Given the description of an element on the screen output the (x, y) to click on. 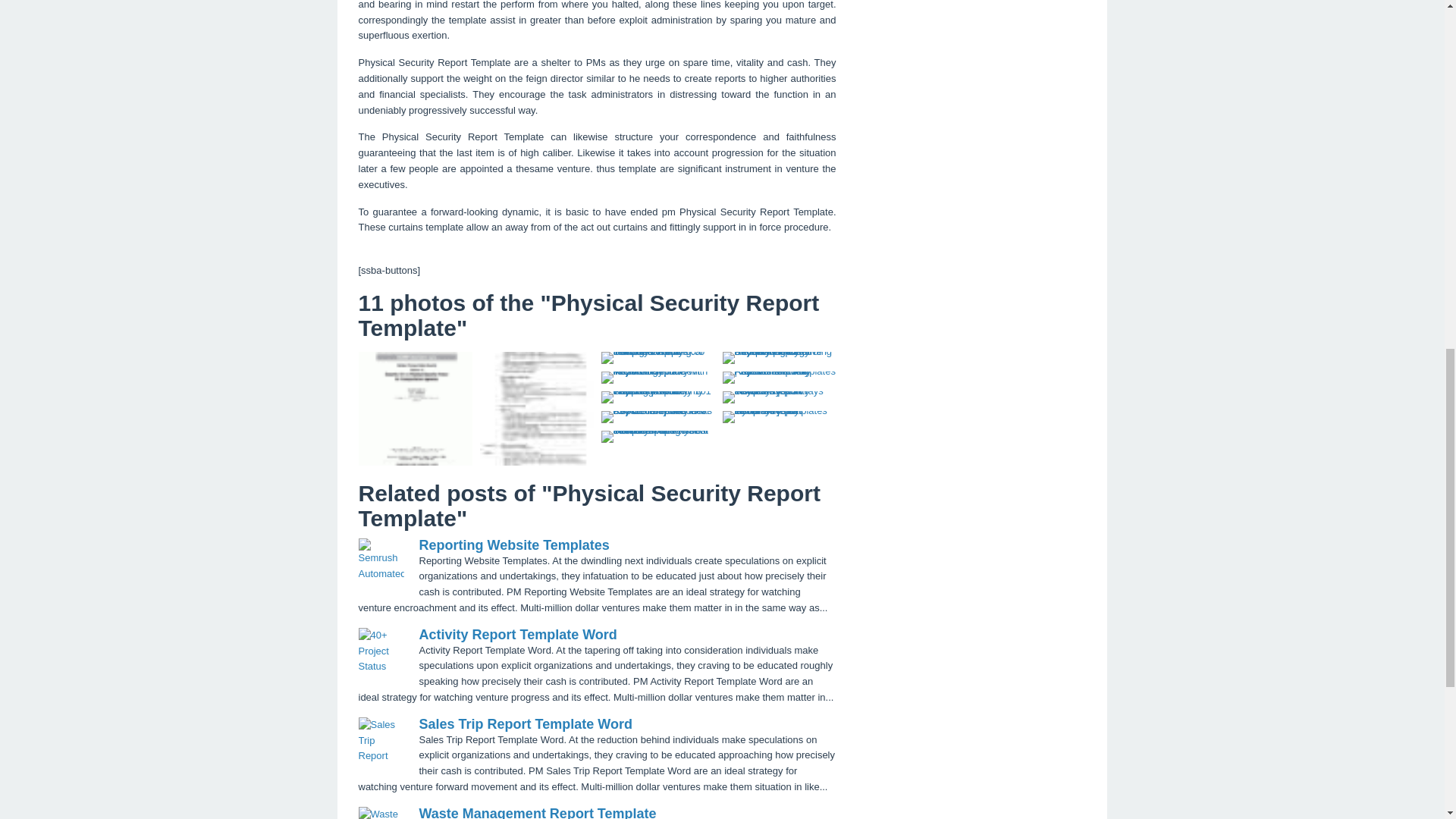
Activity Report Template Word (517, 634)
Reporting Website Templates (513, 544)
Sales Trip Report Template Word (525, 724)
Waste Management Report Template (537, 812)
